Given the description of an element on the screen output the (x, y) to click on. 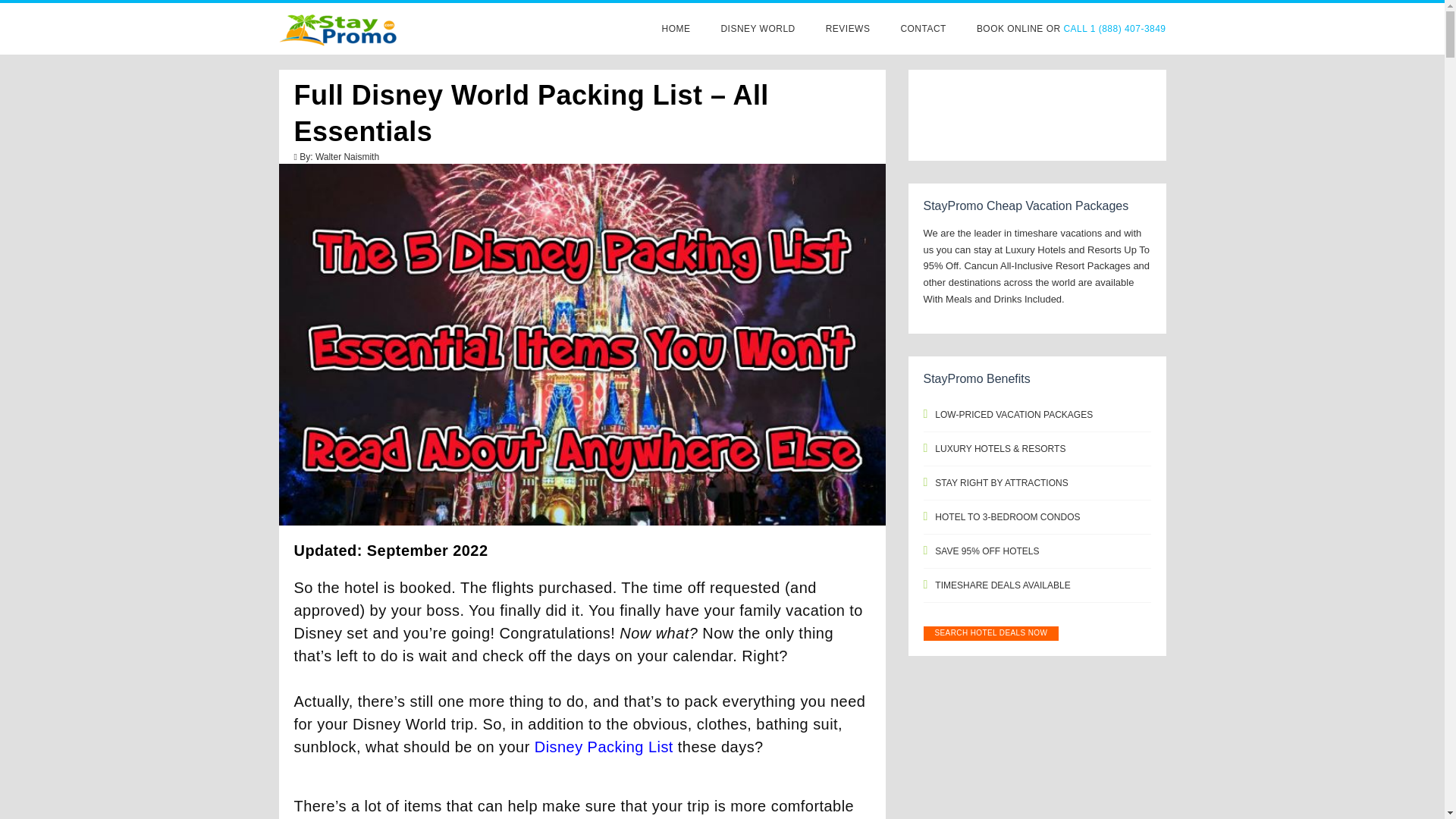
DISNEY WORLD (757, 28)
REVIEWS (847, 28)
CONTACT (921, 28)
HOME (676, 28)
Disney Packing List (603, 746)
